Given the description of an element on the screen output the (x, y) to click on. 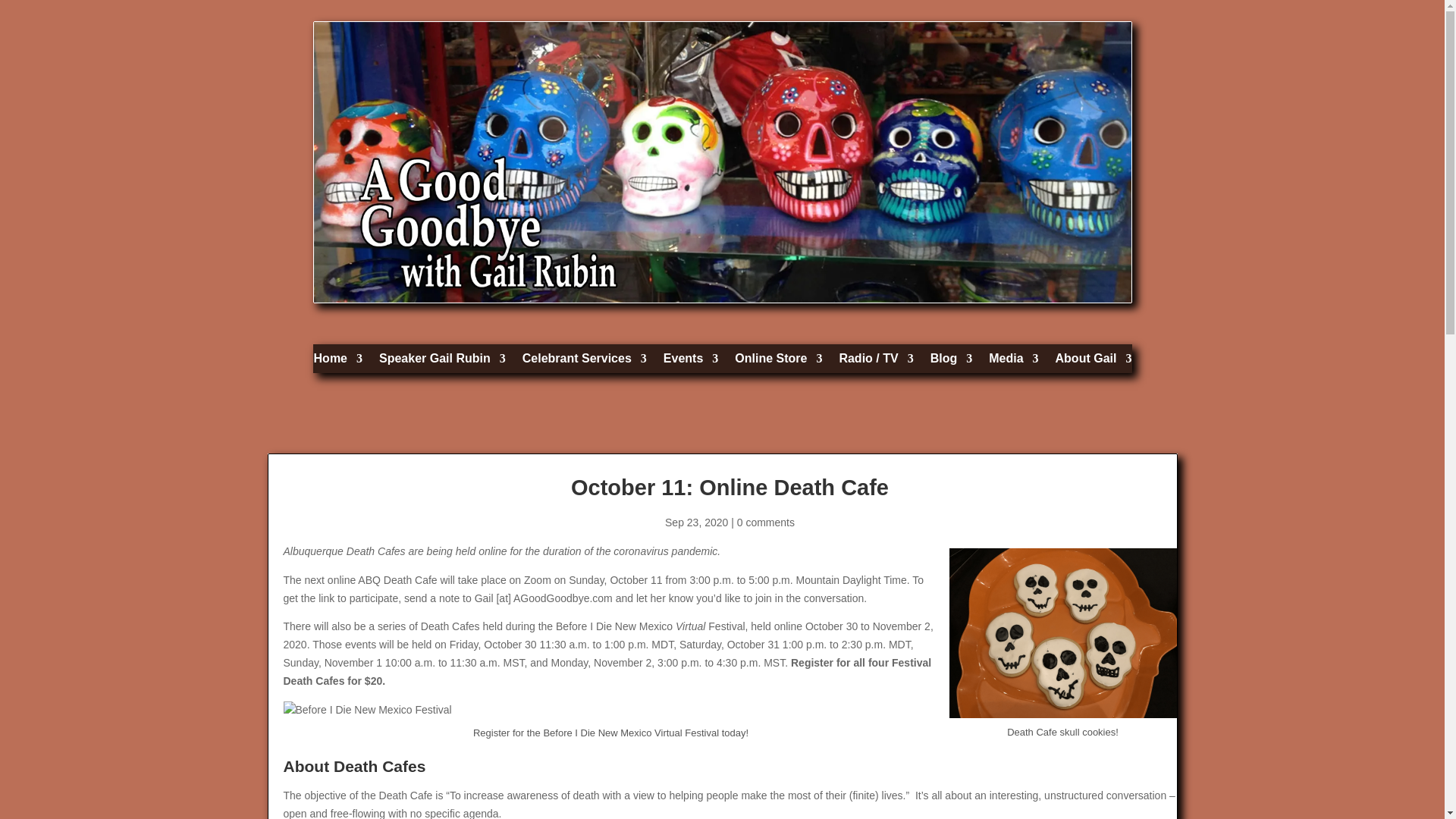
About Gail (1093, 361)
Funeral Services (584, 361)
Home (338, 361)
Media (1013, 361)
Celebrant Services (584, 361)
Online Store (778, 361)
Speaker Gail Rubin (441, 361)
Events (690, 361)
Blog (951, 361)
